Given the description of an element on the screen output the (x, y) to click on. 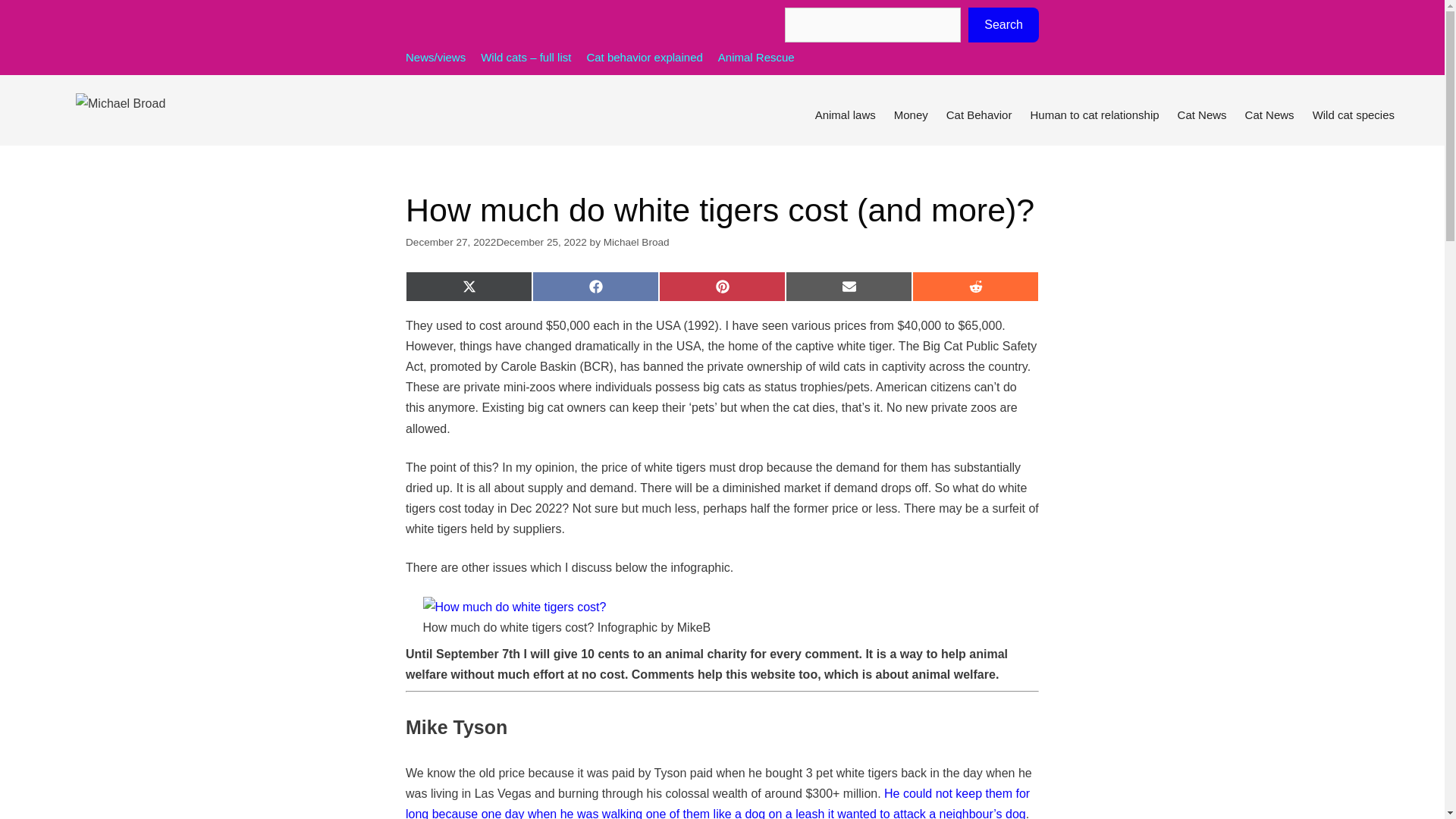
Share on Facebook (595, 286)
Cat News (1202, 115)
Cat Behavior (979, 115)
Money (911, 115)
Cat News (1269, 115)
Search (1003, 24)
Animal Rescue (755, 56)
Wild cat species (1353, 115)
Share on Email (849, 286)
Michael Broad (636, 242)
